Given the description of an element on the screen output the (x, y) to click on. 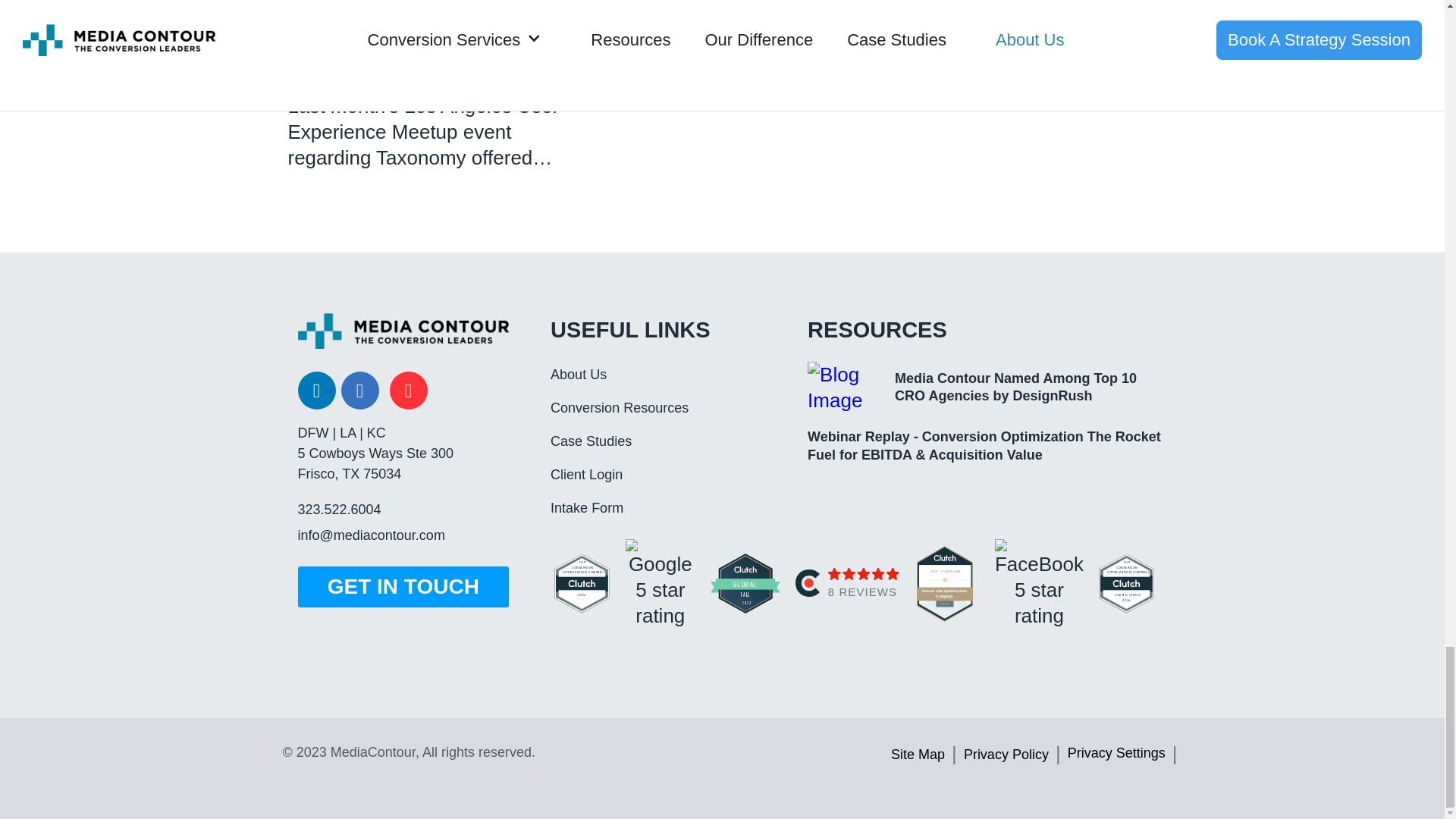
Global Award 2023 (745, 583)
Top Clutch Conversion Optimization Company 2024 (582, 581)
Los Angeles User Experience Meetup (423, 119)
